Given the description of an element on the screen output the (x, y) to click on. 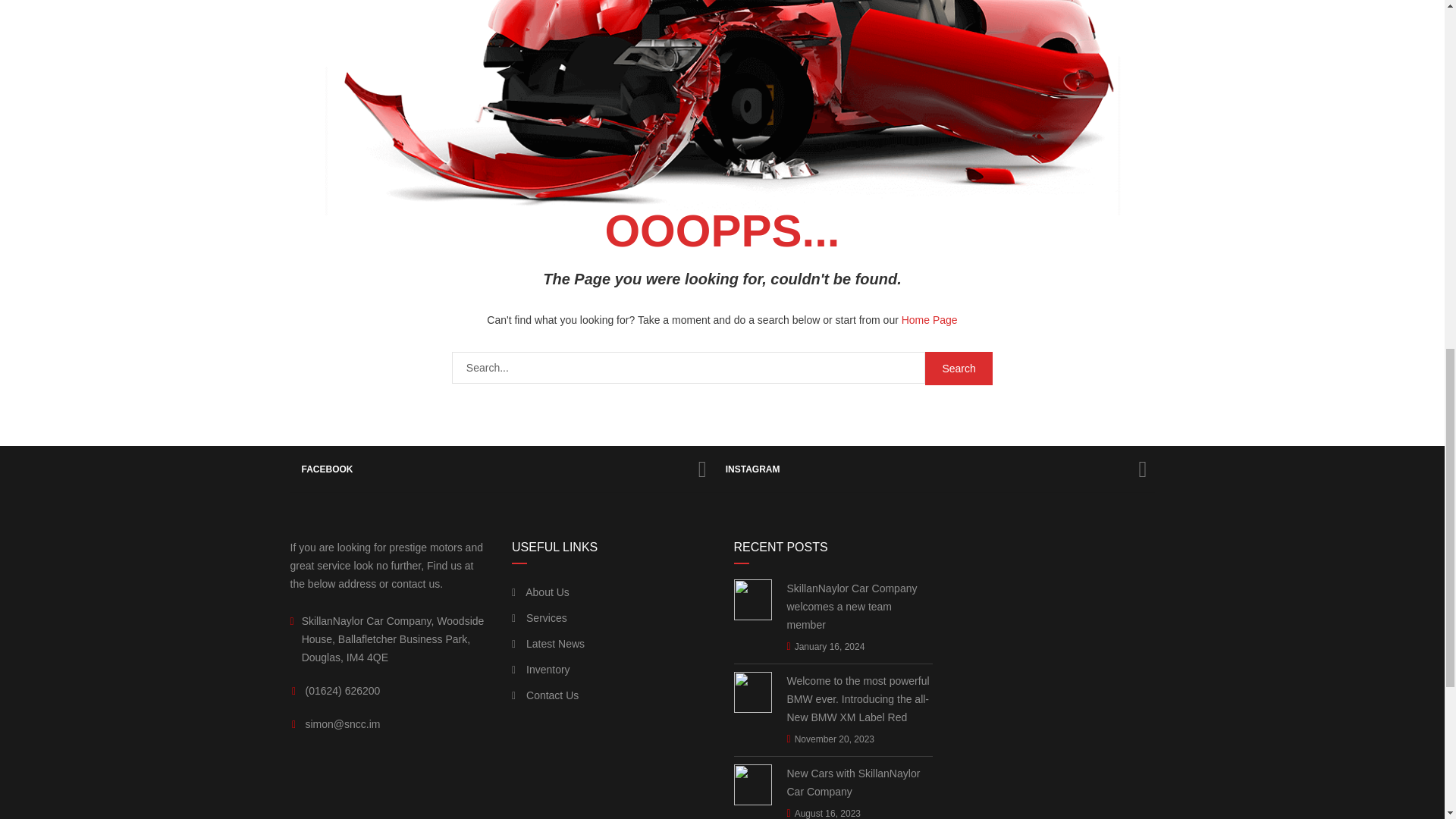
About Us (540, 592)
Search for: (687, 368)
Services (539, 618)
New Cars with SkillanNaylor Car Company (860, 782)
SkillanNaylor Car Company welcomes a new team member (860, 606)
Search (958, 368)
Latest News (548, 643)
Inventory (541, 669)
Contact Us (545, 695)
Home Page (929, 319)
Search (958, 368)
FACEBOOK (501, 469)
INSTAGRAM (934, 469)
